Given the description of an element on the screen output the (x, y) to click on. 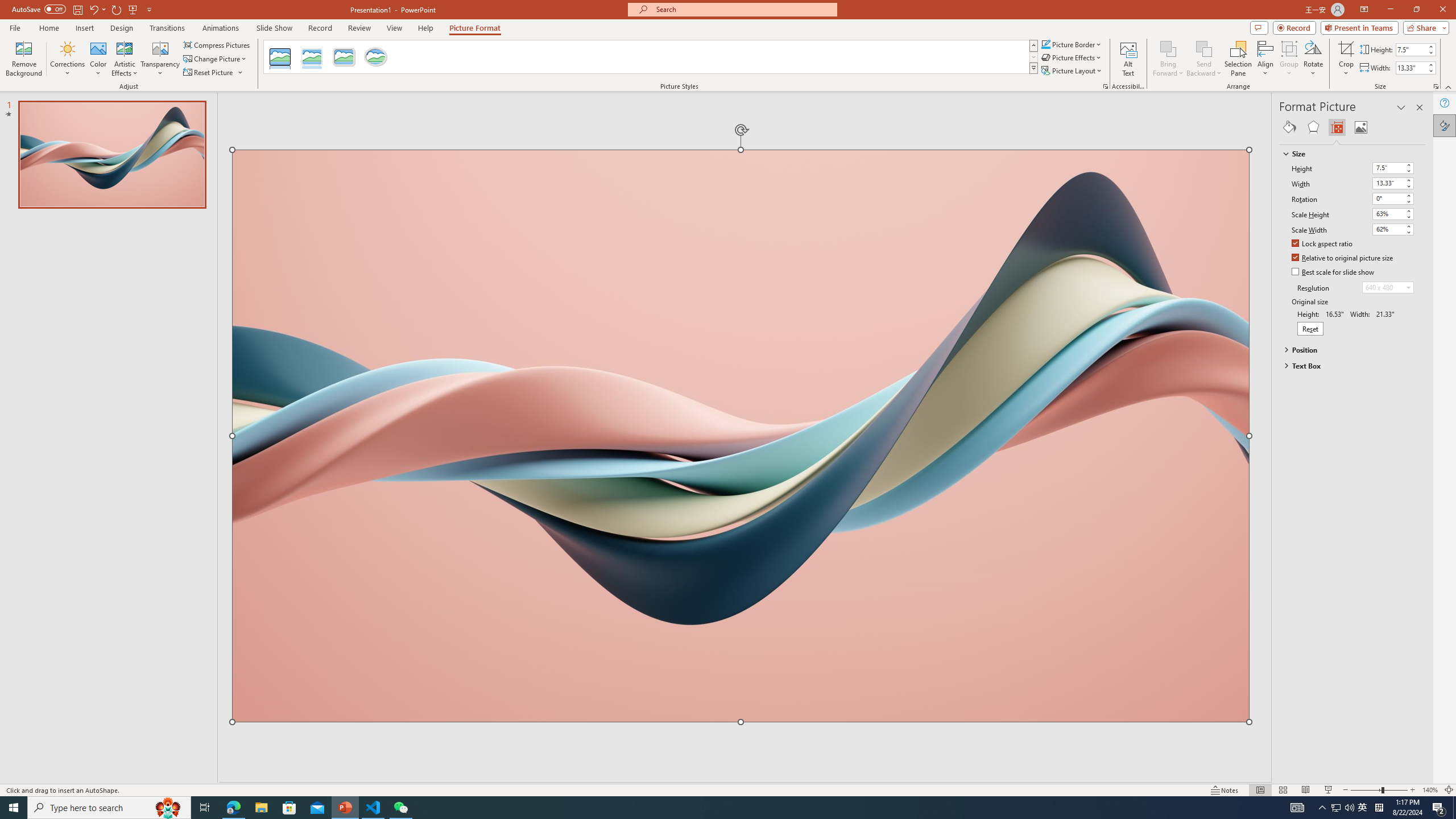
Rotate (1312, 58)
Zoom 140% (1430, 790)
Metal Rounded Rectangle (343, 56)
Wavy 3D art (740, 435)
